Given the description of an element on the screen output the (x, y) to click on. 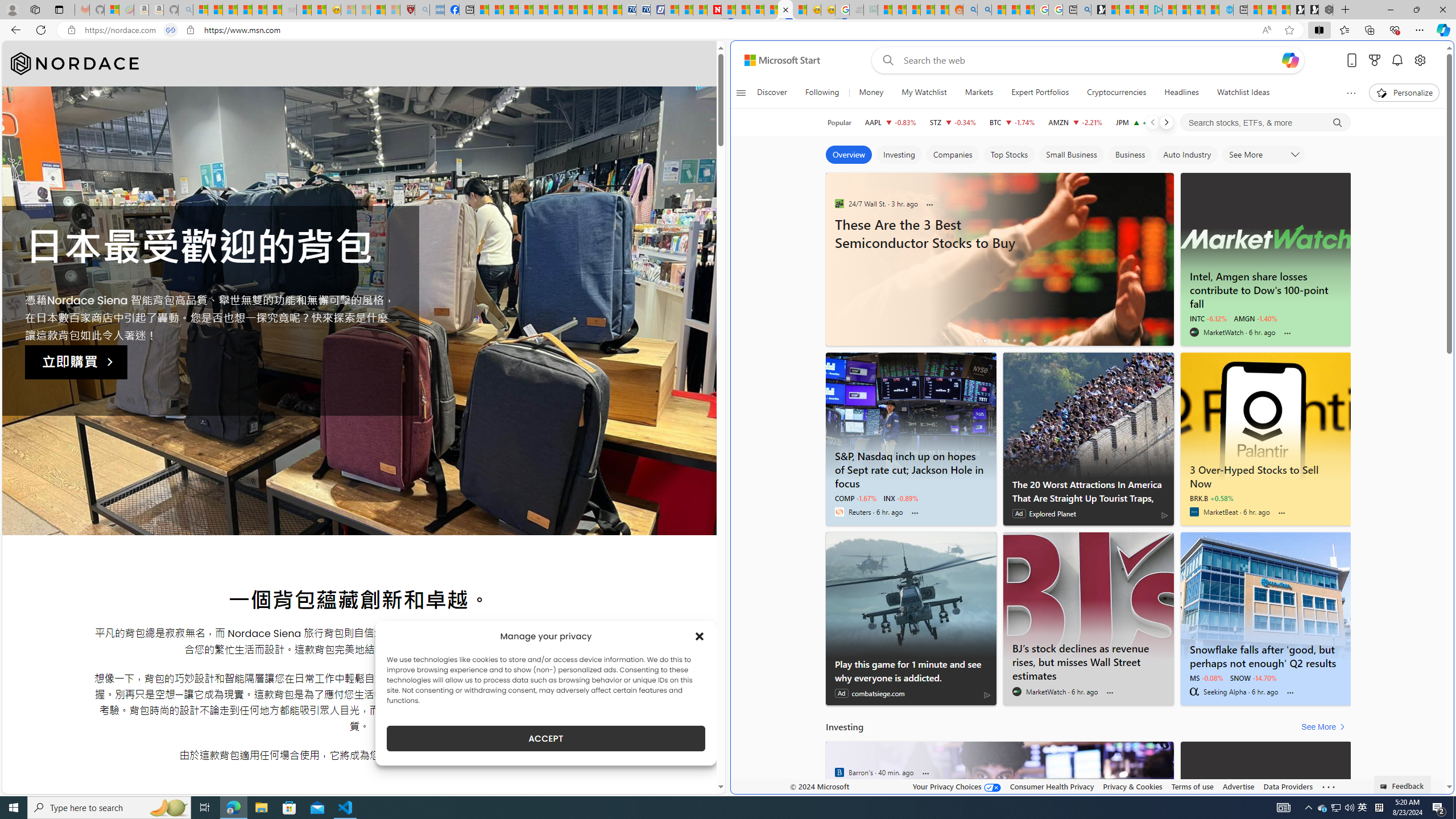
Previous (1151, 122)
Cryptocurrencies (1116, 92)
